Given the description of an element on the screen output the (x, y) to click on. 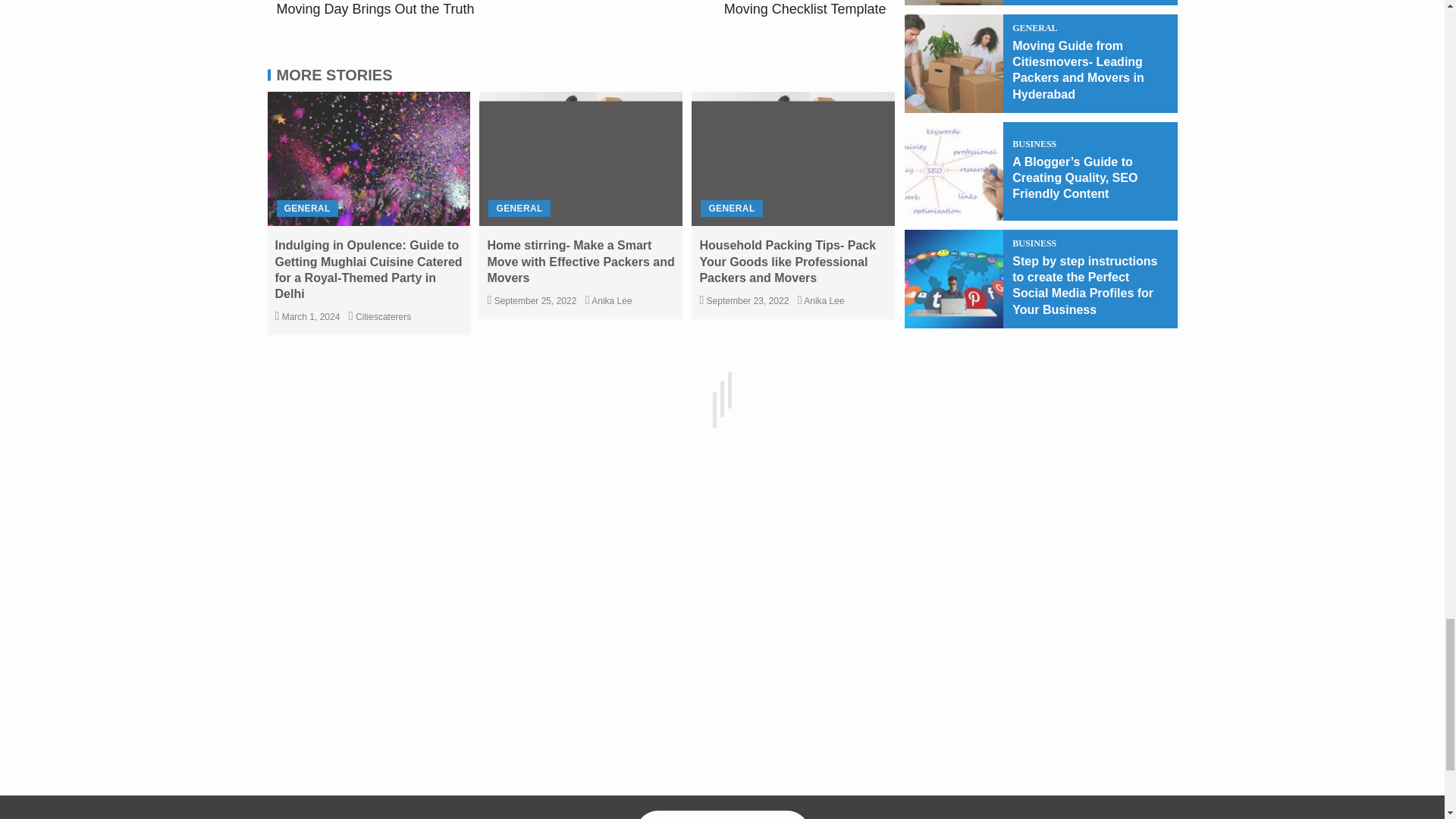
GENERAL (306, 208)
Citiescaterers (382, 317)
Anika Lee (823, 300)
GENERAL (732, 10)
Anika Lee (730, 208)
GENERAL (611, 300)
